Given the description of an element on the screen output the (x, y) to click on. 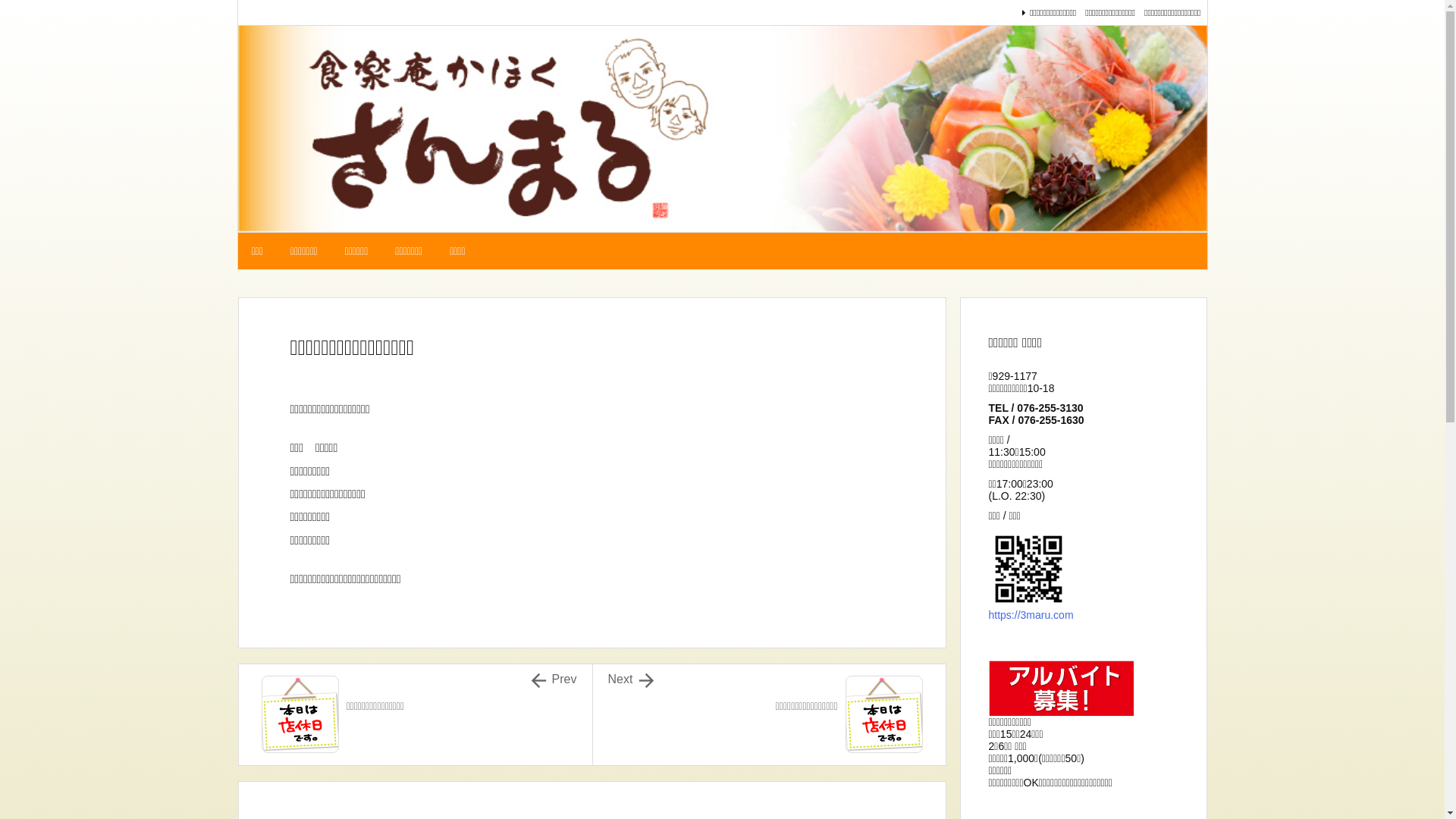
https://3maru.com Element type: text (1030, 614)
